Given the description of an element on the screen output the (x, y) to click on. 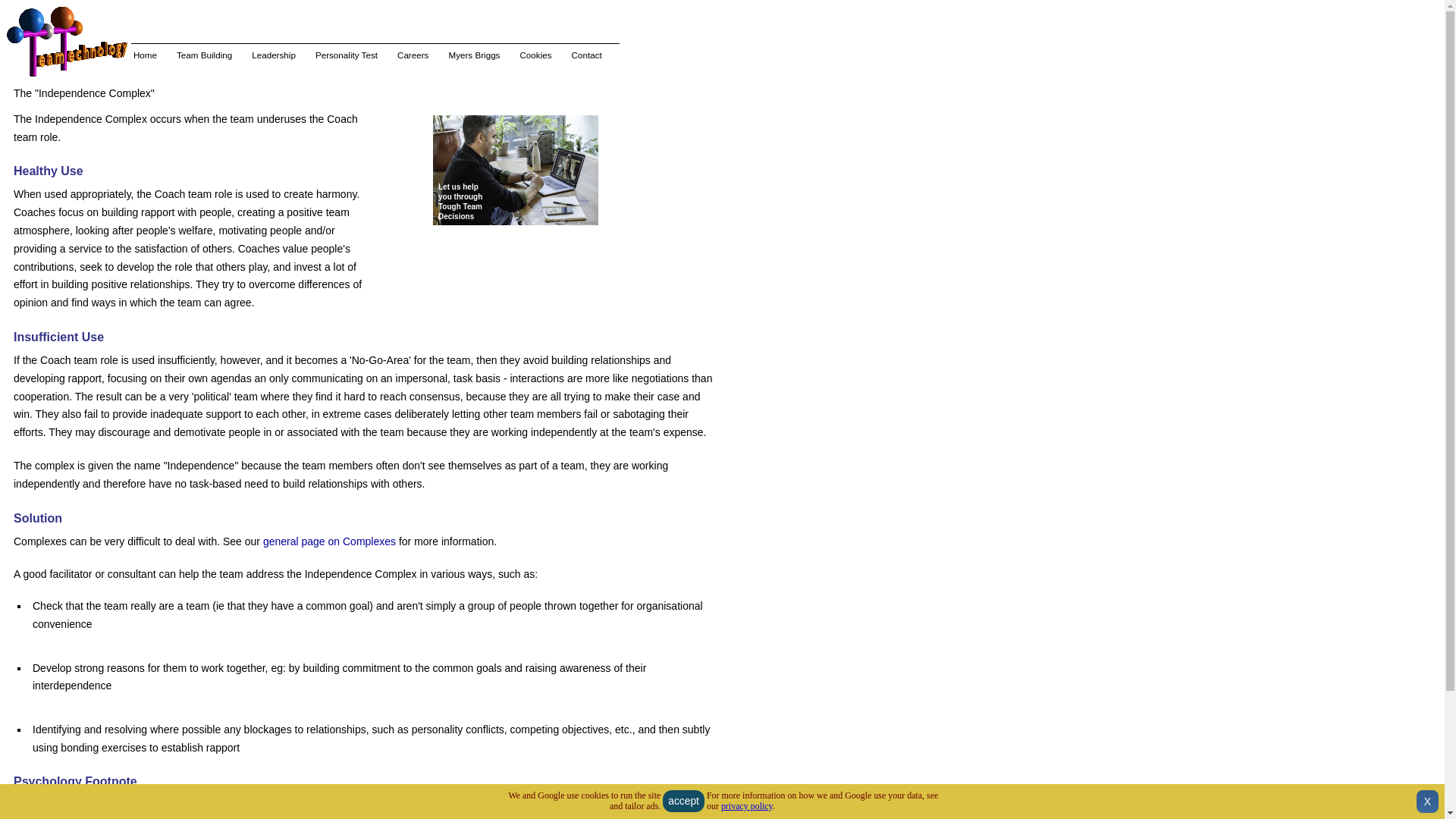
general page on Complexes (329, 541)
Home (145, 55)
Team Building (203, 55)
Cookies (535, 55)
Myers Briggs (473, 55)
Leadership (273, 55)
Personality Test (346, 55)
Careers (412, 55)
Contact (587, 55)
